Given the description of an element on the screen output the (x, y) to click on. 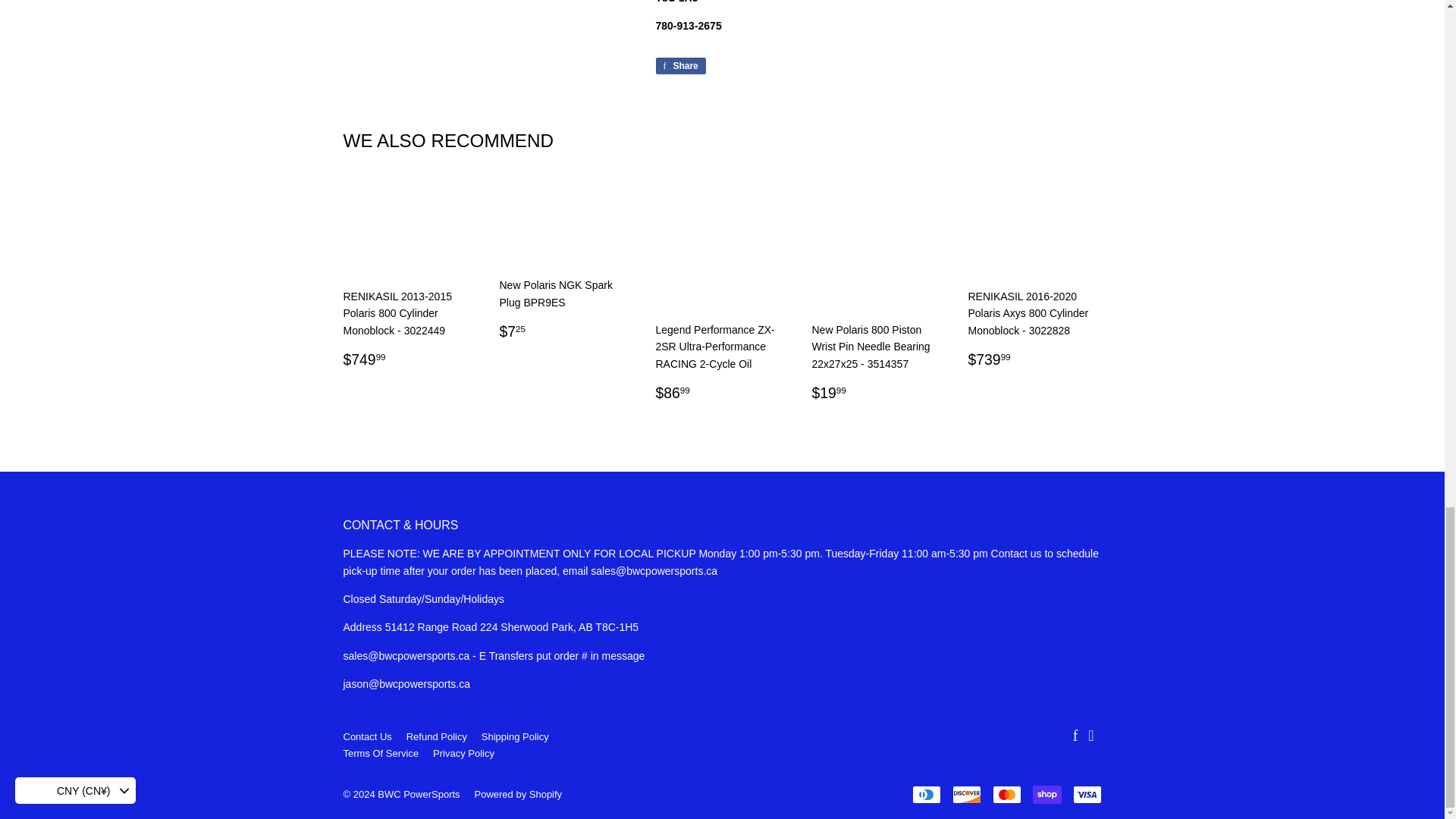
Visa (1085, 794)
Mastercard (1005, 794)
Shop Pay (1046, 794)
Discover (966, 794)
Share on Facebook (679, 65)
Diners Club (925, 794)
